Given the description of an element on the screen output the (x, y) to click on. 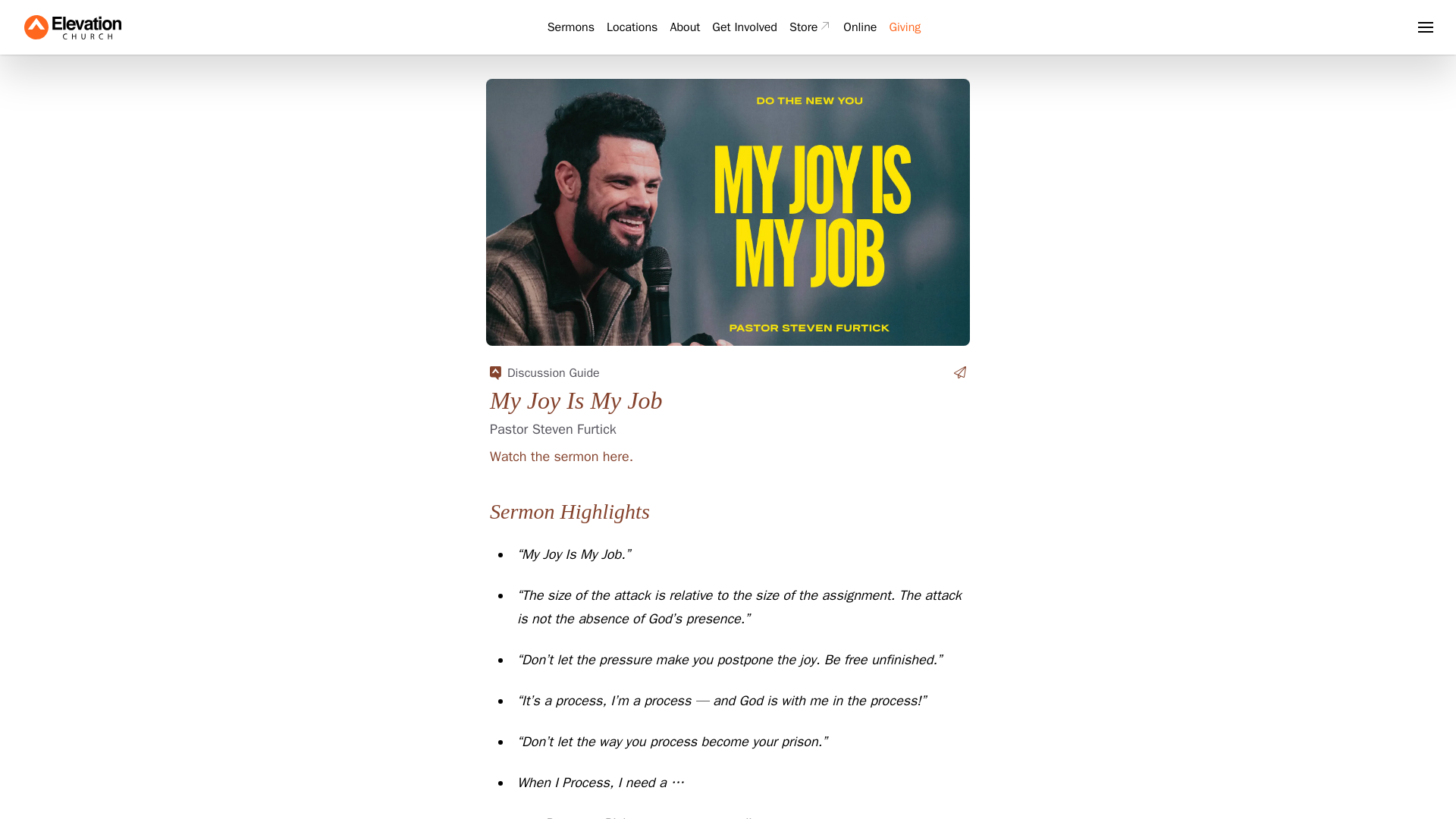
Giving (904, 27)
Watch the sermon here. (561, 456)
Store (810, 27)
Online (859, 27)
Get Involved (744, 27)
Sermons (570, 27)
About (684, 27)
Locations (632, 27)
